Given the description of an element on the screen output the (x, y) to click on. 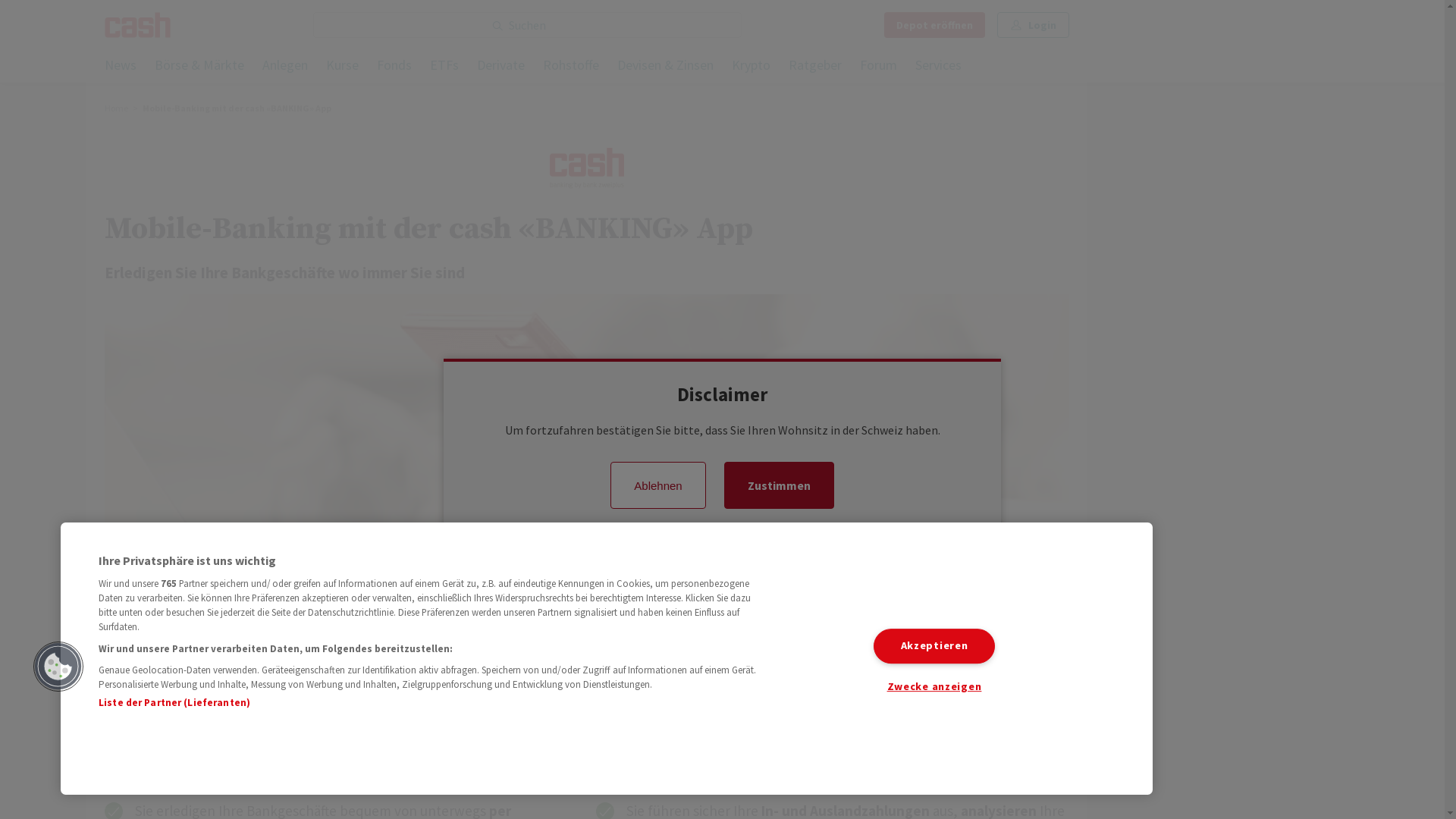
Liste der Partner (Lieferanten) Element type: text (174, 702)
ETFs Element type: text (443, 66)
Home Element type: text (123, 107)
English Element type: text (283, 625)
Startseite Element type: hover (137, 24)
Kurse Element type: text (342, 66)
offer_eb8187733863d8b42438-0 Element type: hover (722, 447)
Derivate Element type: text (500, 66)
Akzeptieren Element type: text (933, 646)
Ratgeber Element type: text (814, 66)
Zwecke anzeigen Element type: text (933, 686)
Devisen & Zinsen Element type: text (665, 66)
Rohstoffe Element type: text (570, 66)
FAQ/Hilfe Element type: text (1040, 59)
Fonds Element type: text (393, 66)
News Element type: text (120, 66)
  Element type: text (1061, 108)
Anlegen Element type: text (284, 66)
Login Element type: text (1033, 24)
Forum Element type: text (878, 66)
Services Element type: text (938, 66)
Krypto Element type: text (750, 66)
Cookies Button Element type: text (58, 666)
